Given the description of an element on the screen output the (x, y) to click on. 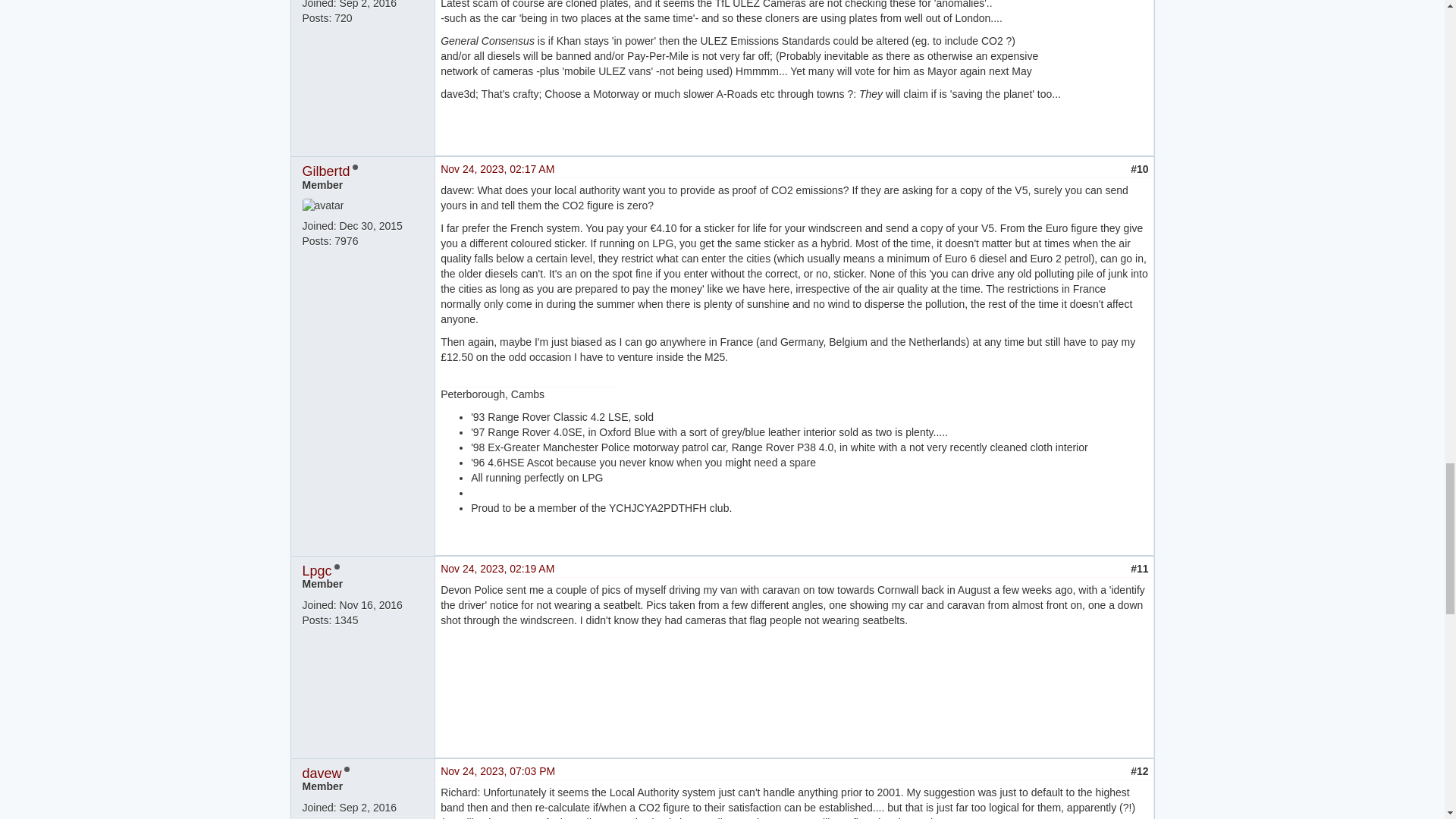
Gilbertd (325, 171)
